Given the description of an element on the screen output the (x, y) to click on. 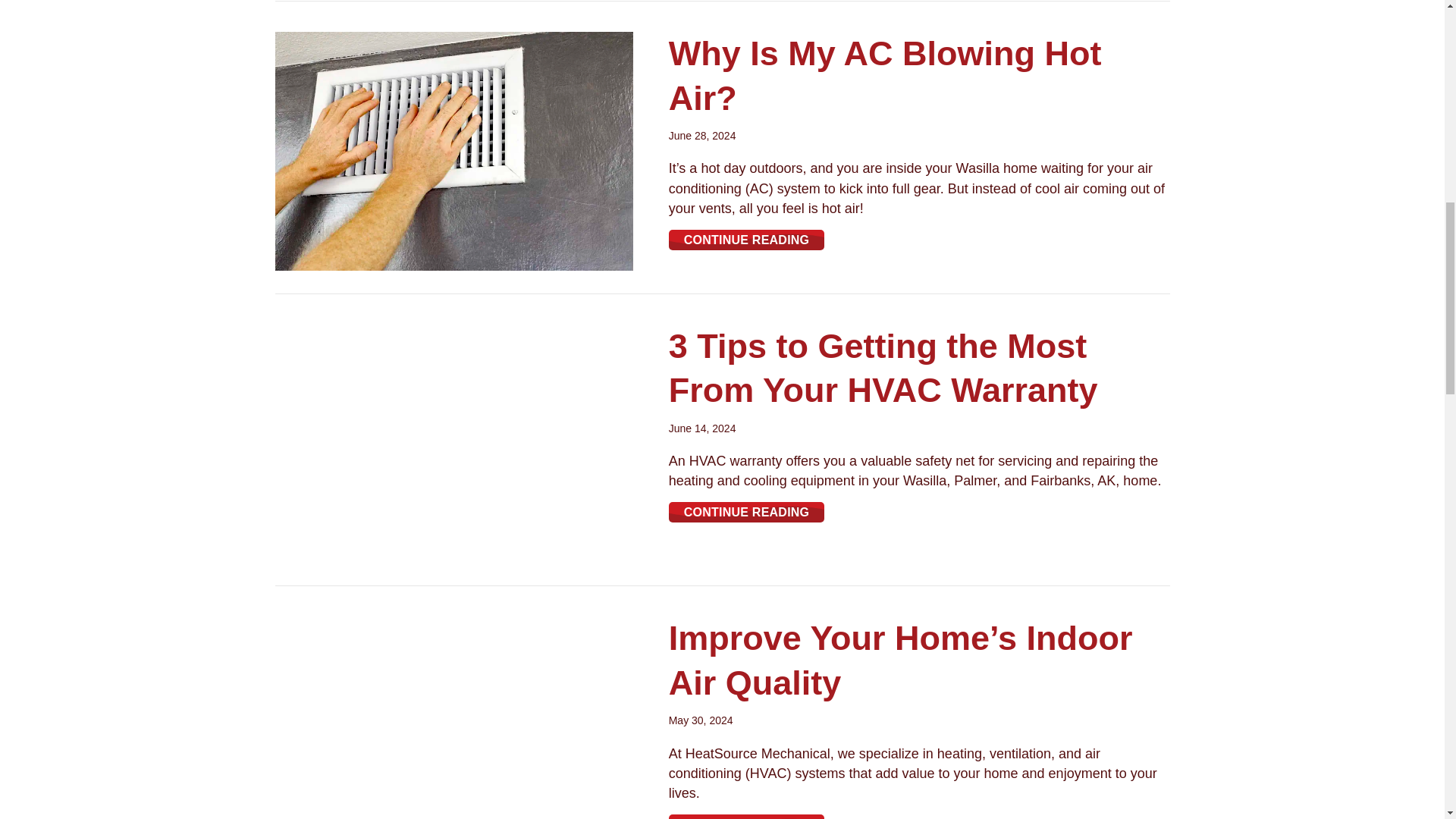
3 Tips to Getting the Most From Your HVAC Warranty (453, 442)
3 Tips to Getting the Most From Your HVAC Warranty (746, 512)
3 Tips to Getting the Most From Your HVAC Warranty (882, 368)
Why Is My AC Blowing Hot Air? (885, 75)
Why Is My AC Blowing Hot Air? (453, 150)
Why Is My AC Blowing Hot Air? (746, 240)
